Given the description of an element on the screen output the (x, y) to click on. 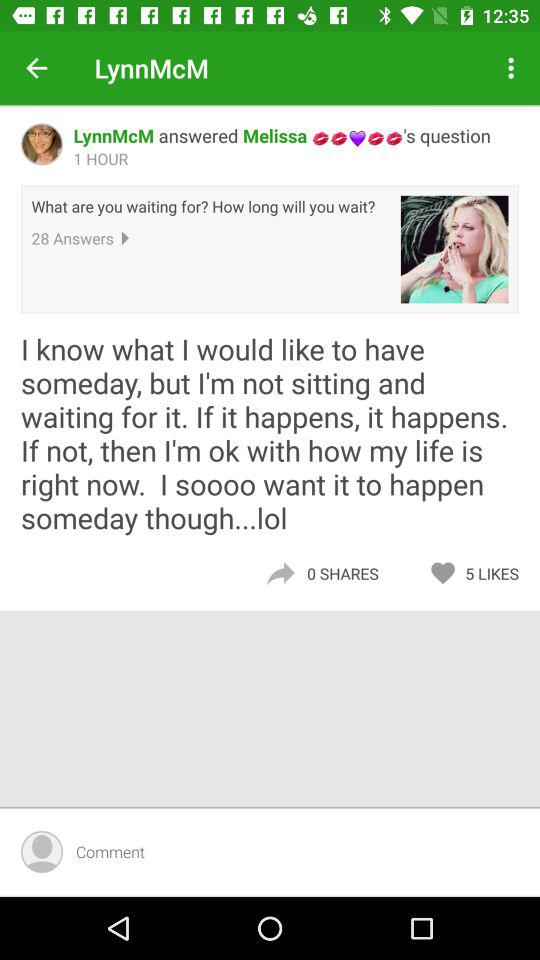
forward the message (280, 573)
